Given the description of an element on the screen output the (x, y) to click on. 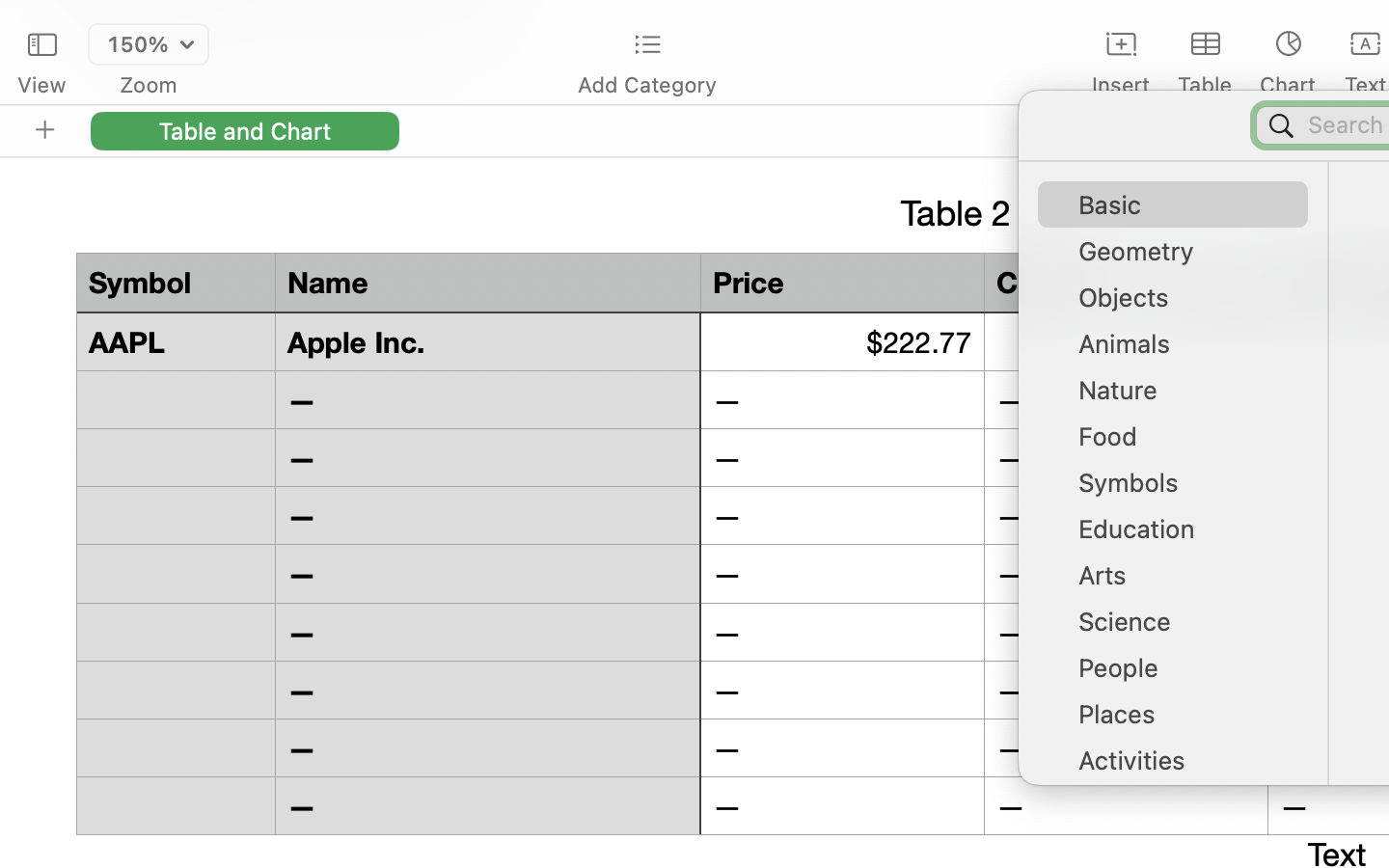
Table and Chart Element type: AXStaticText (244, 129)
Add Category Element type: AXStaticText (646, 84)
People Element type: AXStaticText (1182, 674)
Education Element type: AXStaticText (1182, 536)
Geometry Element type: AXStaticText (1182, 258)
